Given the description of an element on the screen output the (x, y) to click on. 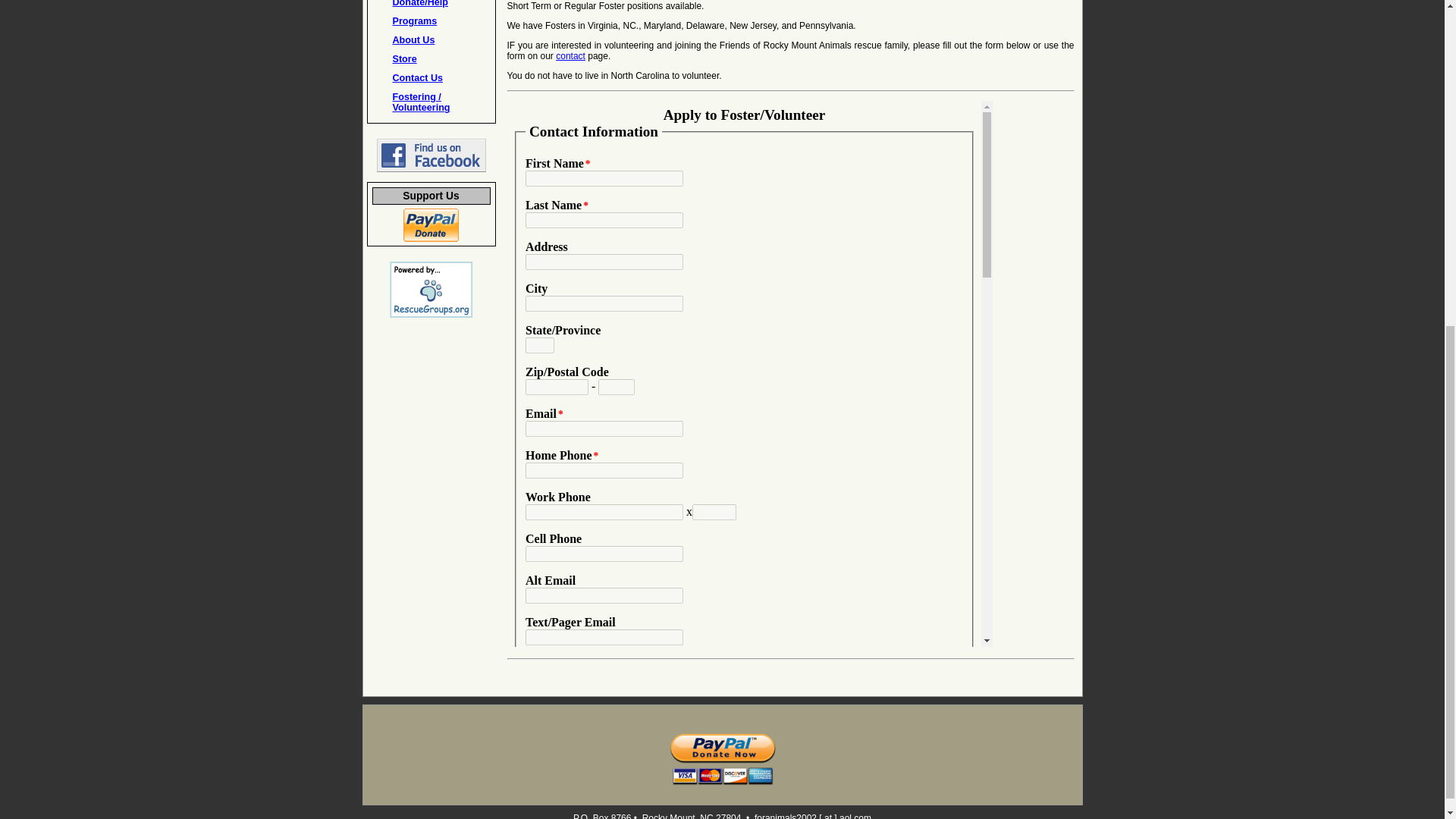
Store (404, 59)
Programs (415, 20)
contact (570, 55)
Contact Us (417, 77)
About Us (414, 40)
Friends of Rocky Mount Animals on Facebook (429, 168)
